Given the description of an element on the screen output the (x, y) to click on. 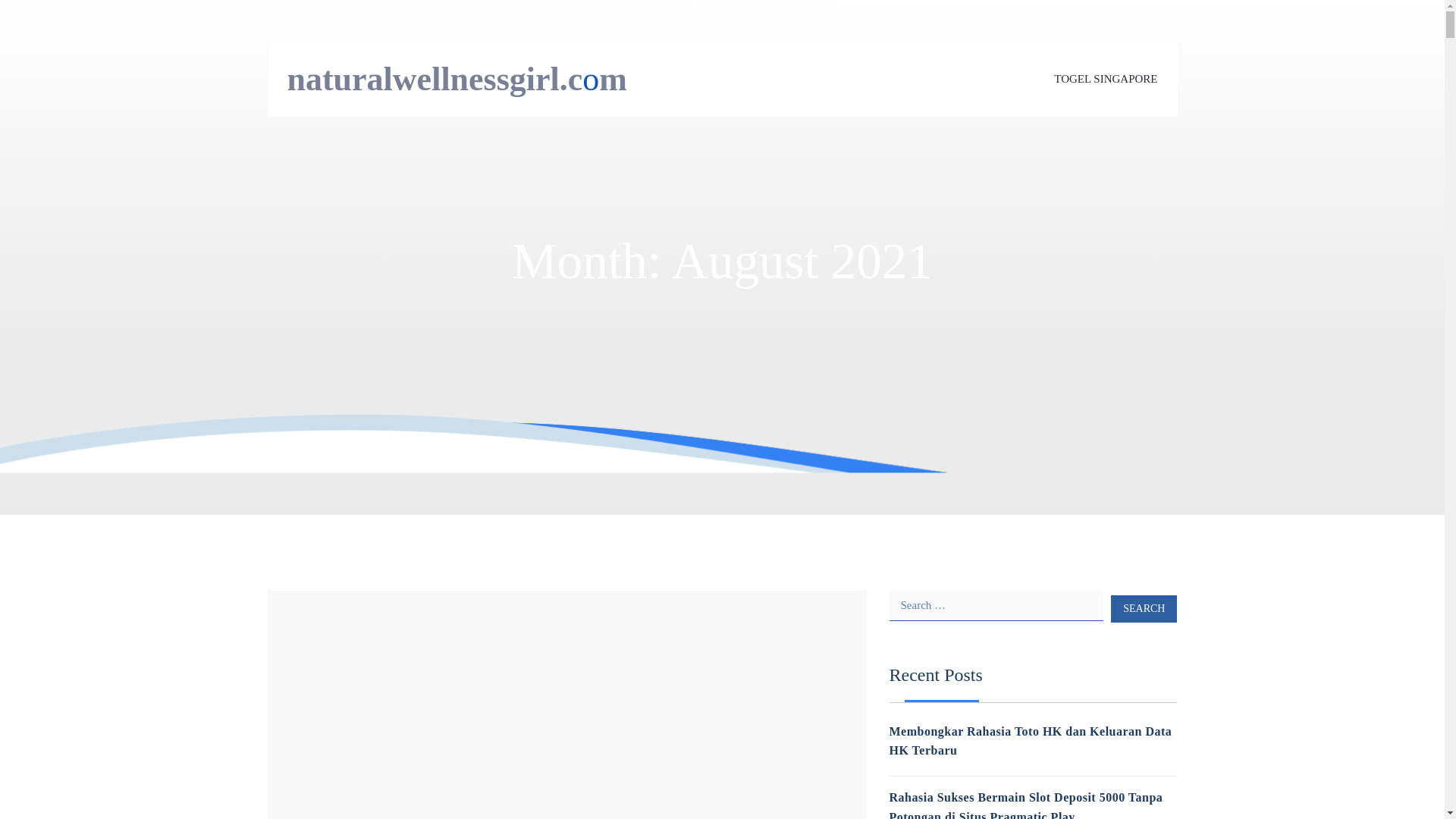
naturalwellnessgirl.com (456, 78)
TOGEL SINGAPORE (1105, 78)
Types of News Travel Stories (414, 608)
Search (1143, 608)
Search (1143, 608)
31 AUGUST 2021 (306, 650)
ADMINNAT (384, 650)
